Given the description of an element on the screen output the (x, y) to click on. 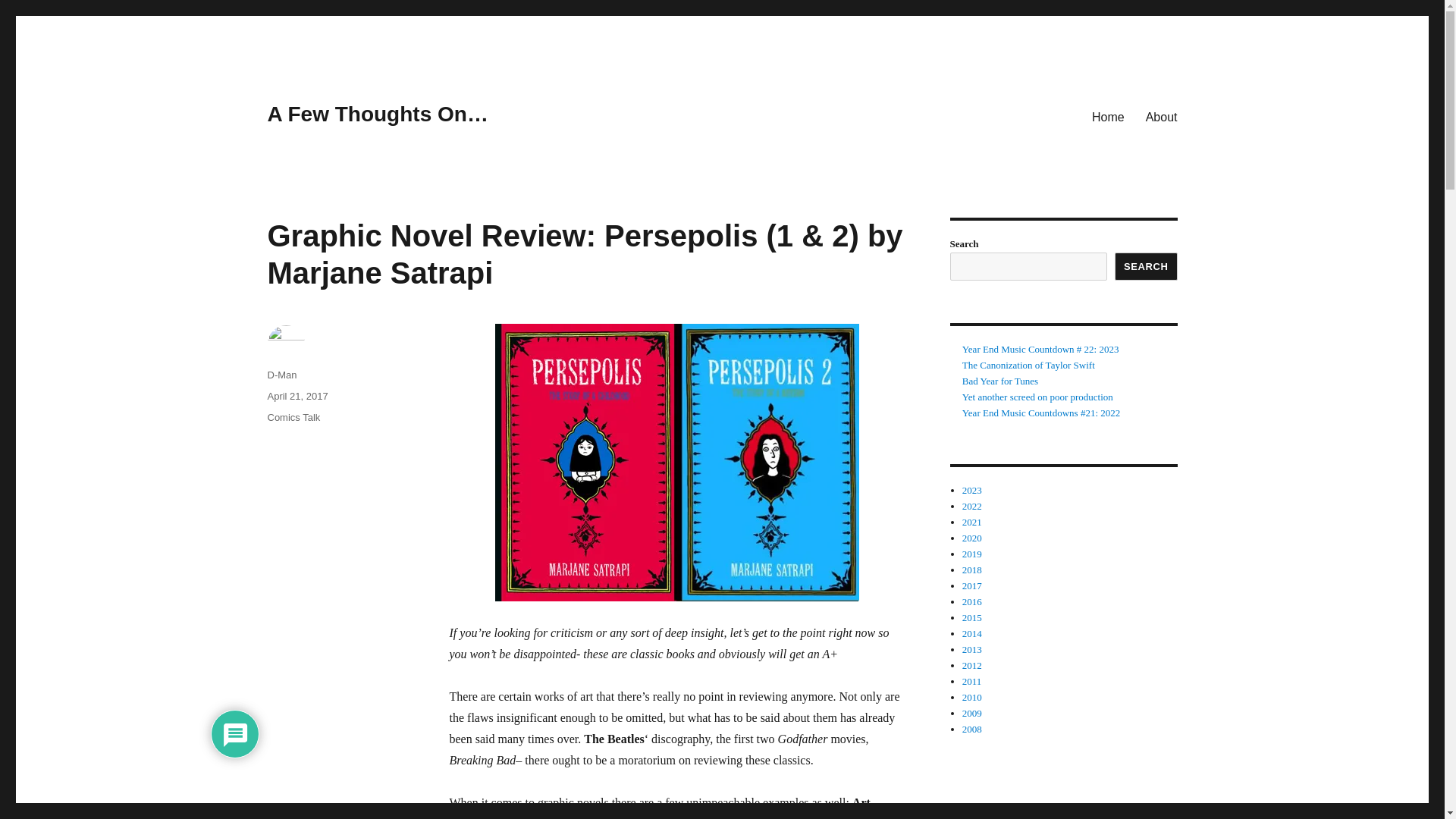
Comics Talk (293, 417)
About (1161, 116)
D-Man (281, 374)
Home (1108, 116)
April 21, 2017 (296, 396)
